Given the description of an element on the screen output the (x, y) to click on. 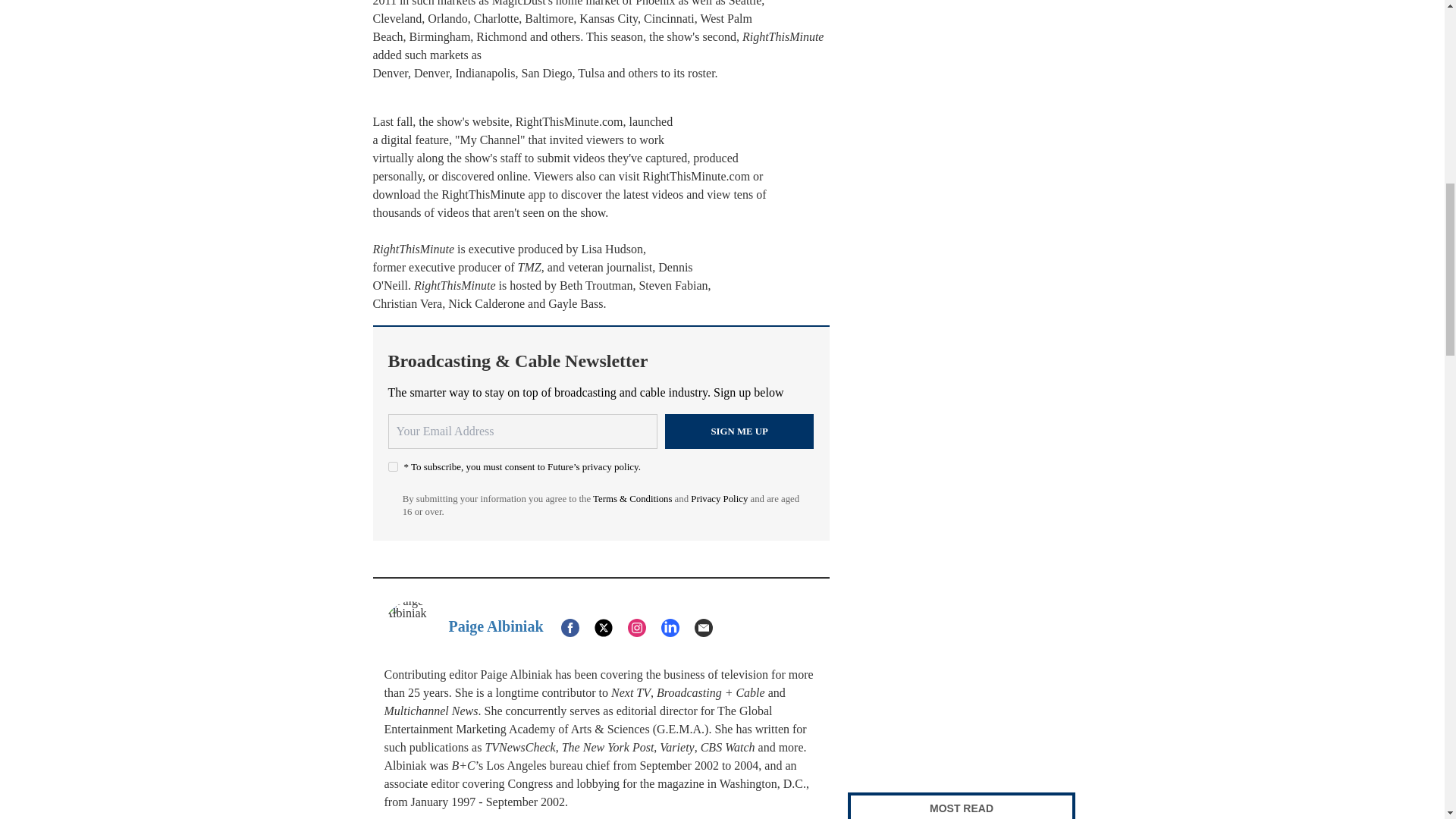
on (392, 466)
Sign me up (739, 431)
Privacy Policy (719, 498)
Sign me up (739, 431)
